Given the description of an element on the screen output the (x, y) to click on. 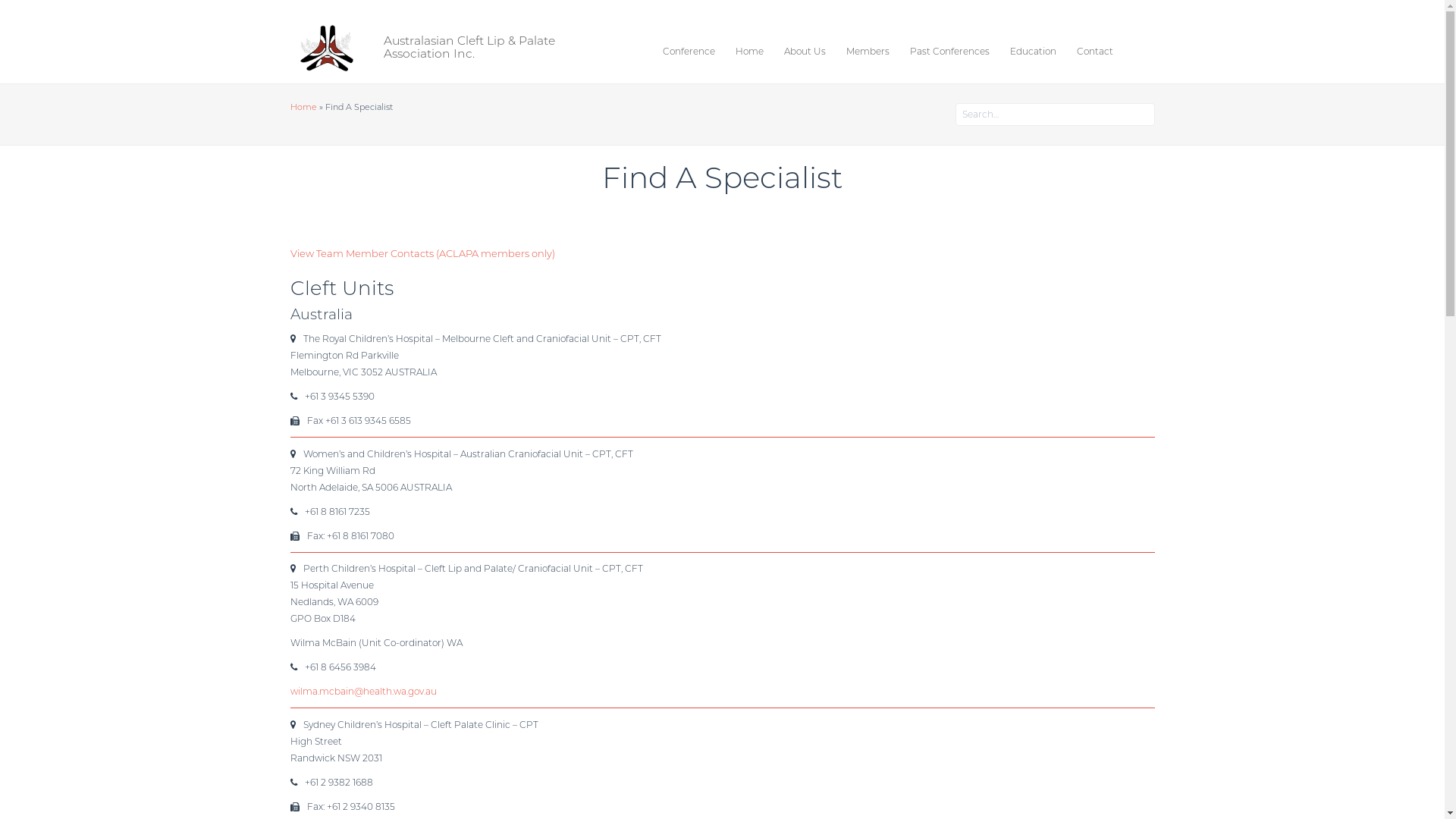
Home Element type: text (756, 49)
Conference Element type: text (696, 49)
Contact Element type: text (1102, 49)
Past Conferences Element type: text (956, 49)
Search Element type: text (32, 17)
View Team Member Contacts (ACLAPA members only) Element type: text (421, 253)
About Us Element type: text (811, 49)
wilma.mcbain@health.wa.gov.au Element type: text (362, 690)
Australasian Cleft Lip & Palate Association Inc. Element type: text (463, 39)
Home Element type: text (302, 106)
Members Element type: text (874, 49)
Education Element type: text (1040, 49)
